Given the description of an element on the screen output the (x, y) to click on. 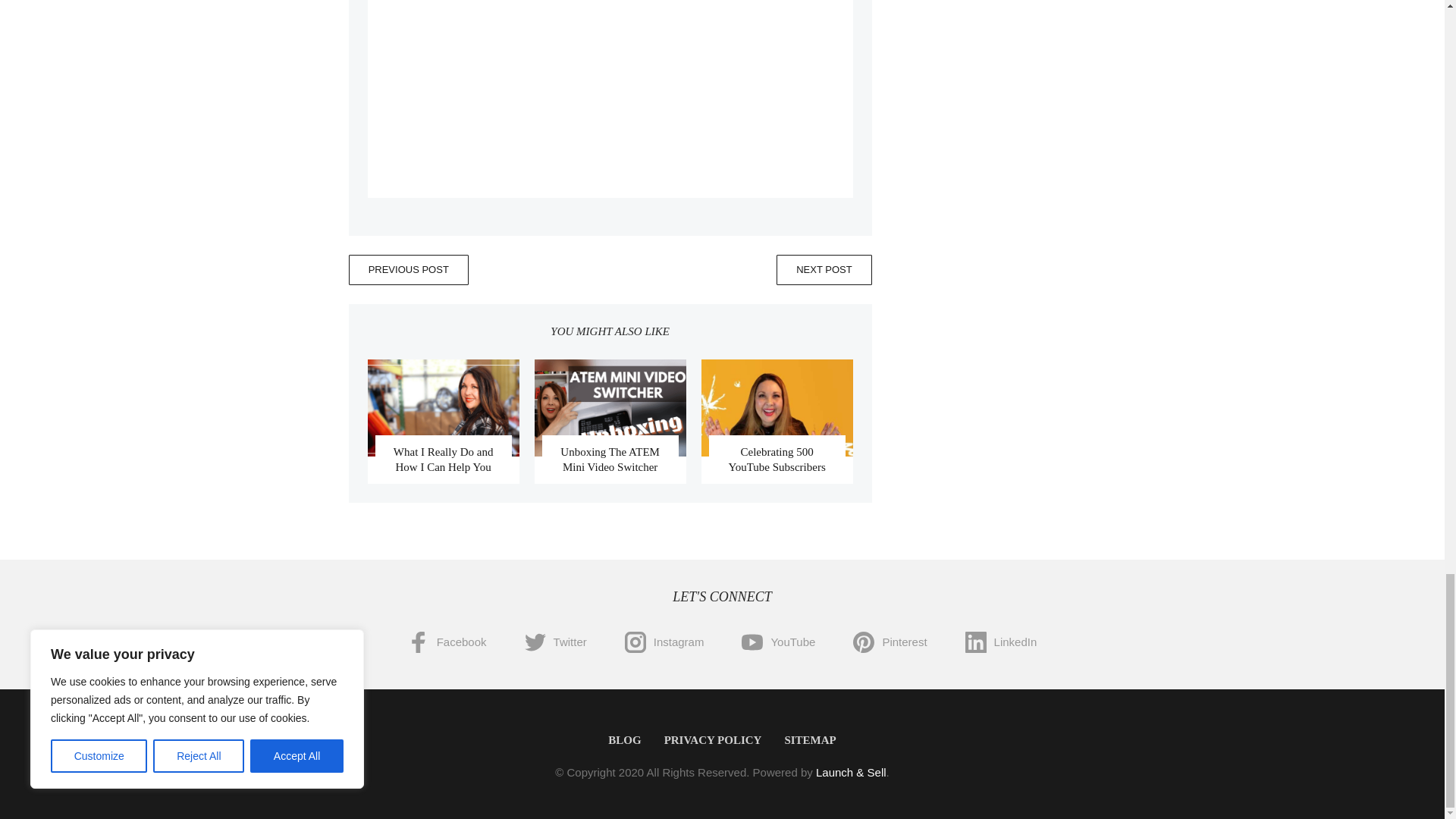
PREVIOUS POST (408, 269)
Celebrating 500 YouTube Subscribers (776, 459)
NEXT POST (823, 269)
What I Really Do and How I Can Help You (443, 459)
Unboxing The ATEM Mini Video Switcher (609, 459)
